Given the description of an element on the screen output the (x, y) to click on. 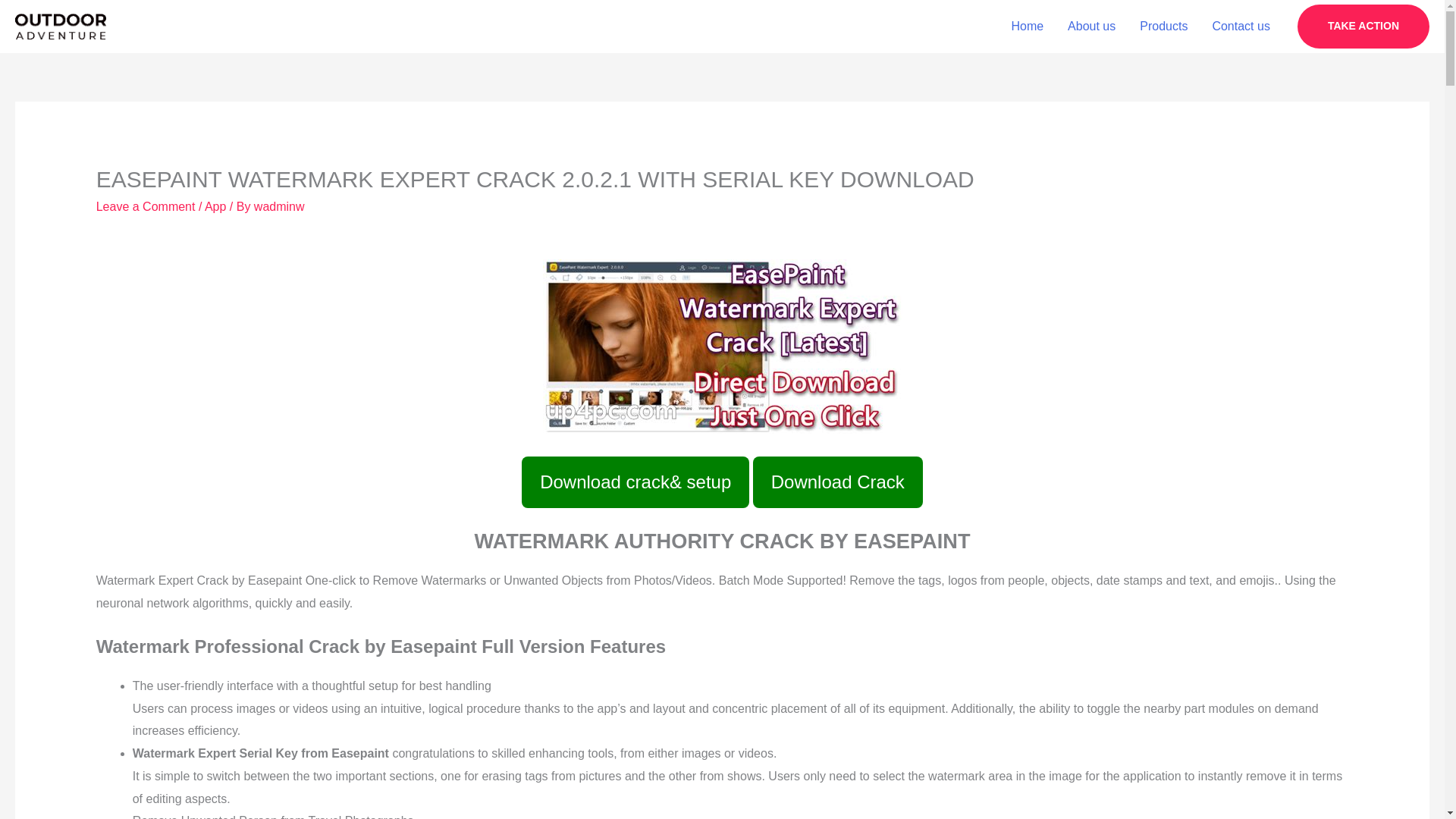
About us (1090, 26)
App (215, 205)
Download Crack (837, 482)
Home (1026, 26)
Contact us (1240, 26)
View all posts by wadminw (278, 205)
wadminw (278, 205)
Leave a Comment (145, 205)
TAKE ACTION (1363, 26)
Products (1162, 26)
